Given the description of an element on the screen output the (x, y) to click on. 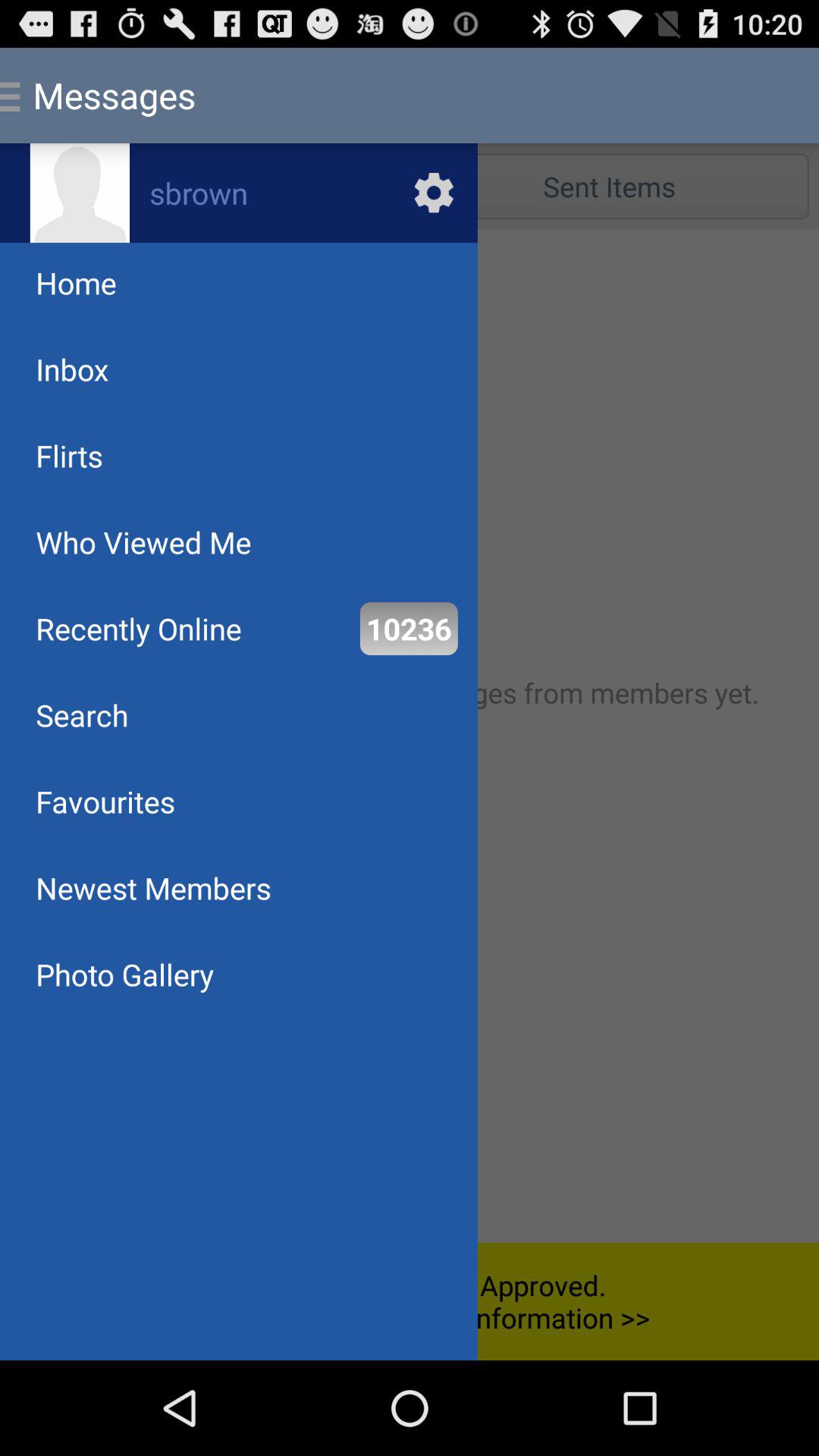
turn on the app above the who viewed me app (68, 455)
